Given the description of an element on the screen output the (x, y) to click on. 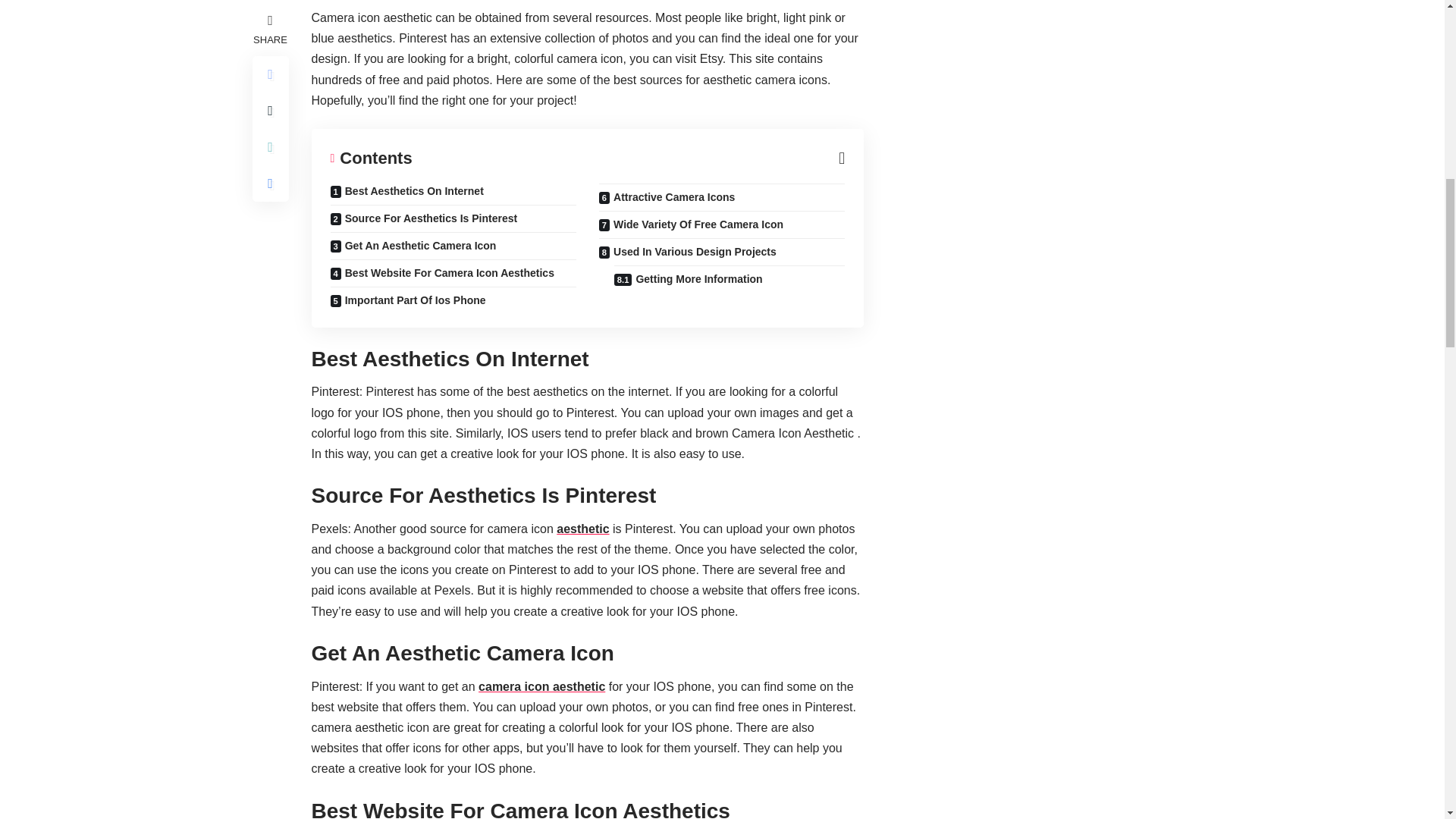
Get An Aesthetic Camera Icon (453, 245)
Best Aesthetics On Internet (453, 193)
Source For Aesthetics Is Pinterest (453, 217)
